Given the description of an element on the screen output the (x, y) to click on. 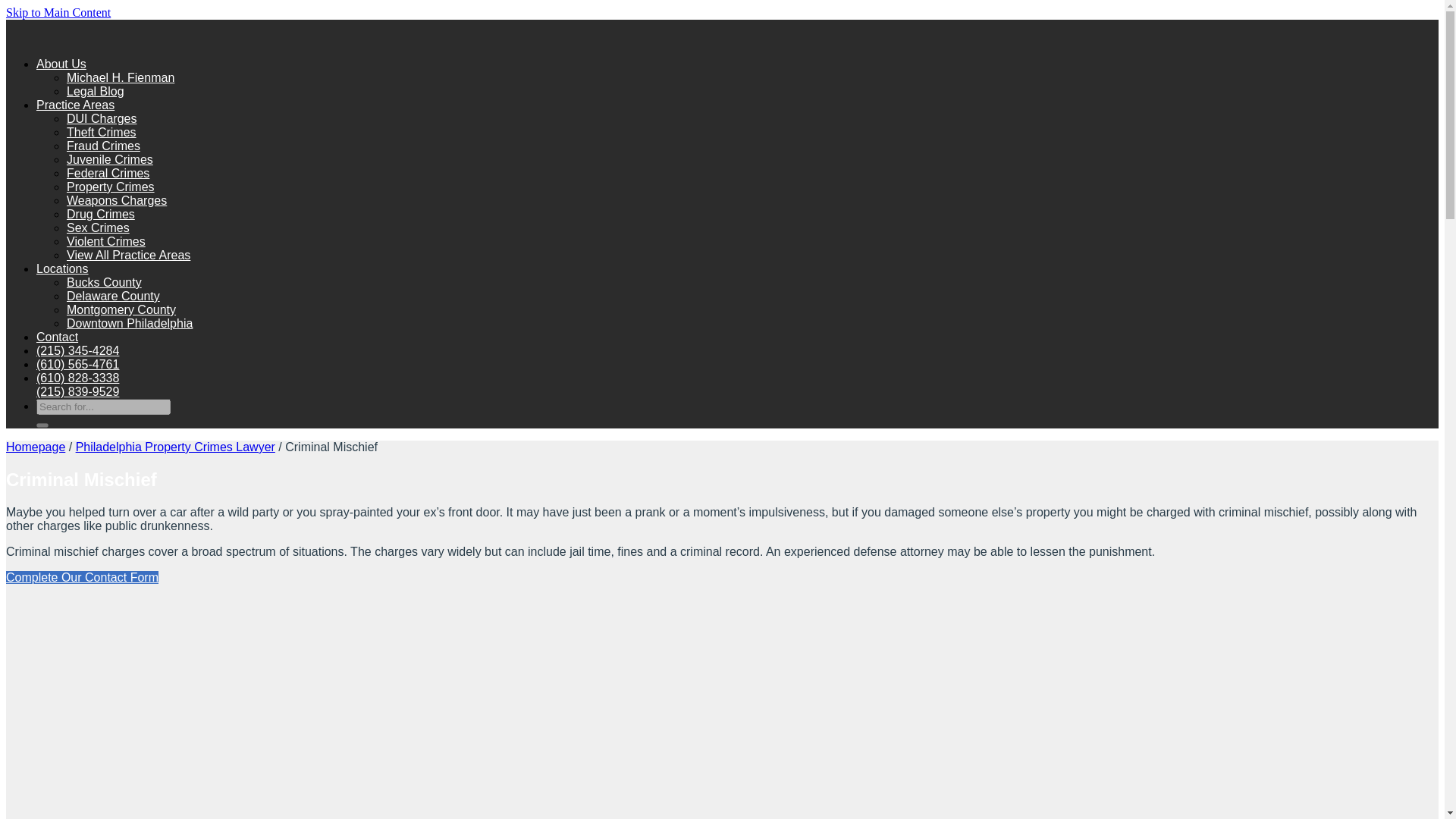
Bucks County (103, 282)
Property Crimes (110, 186)
Theft Crimes (101, 132)
Delaware County (113, 295)
Online form (81, 576)
Contact (57, 336)
Drug Crimes (100, 214)
Juvenile Crimes (109, 159)
Fraud Crimes (102, 145)
Philadelphia Property Crimes Lawyer (175, 446)
